Given the description of an element on the screen output the (x, y) to click on. 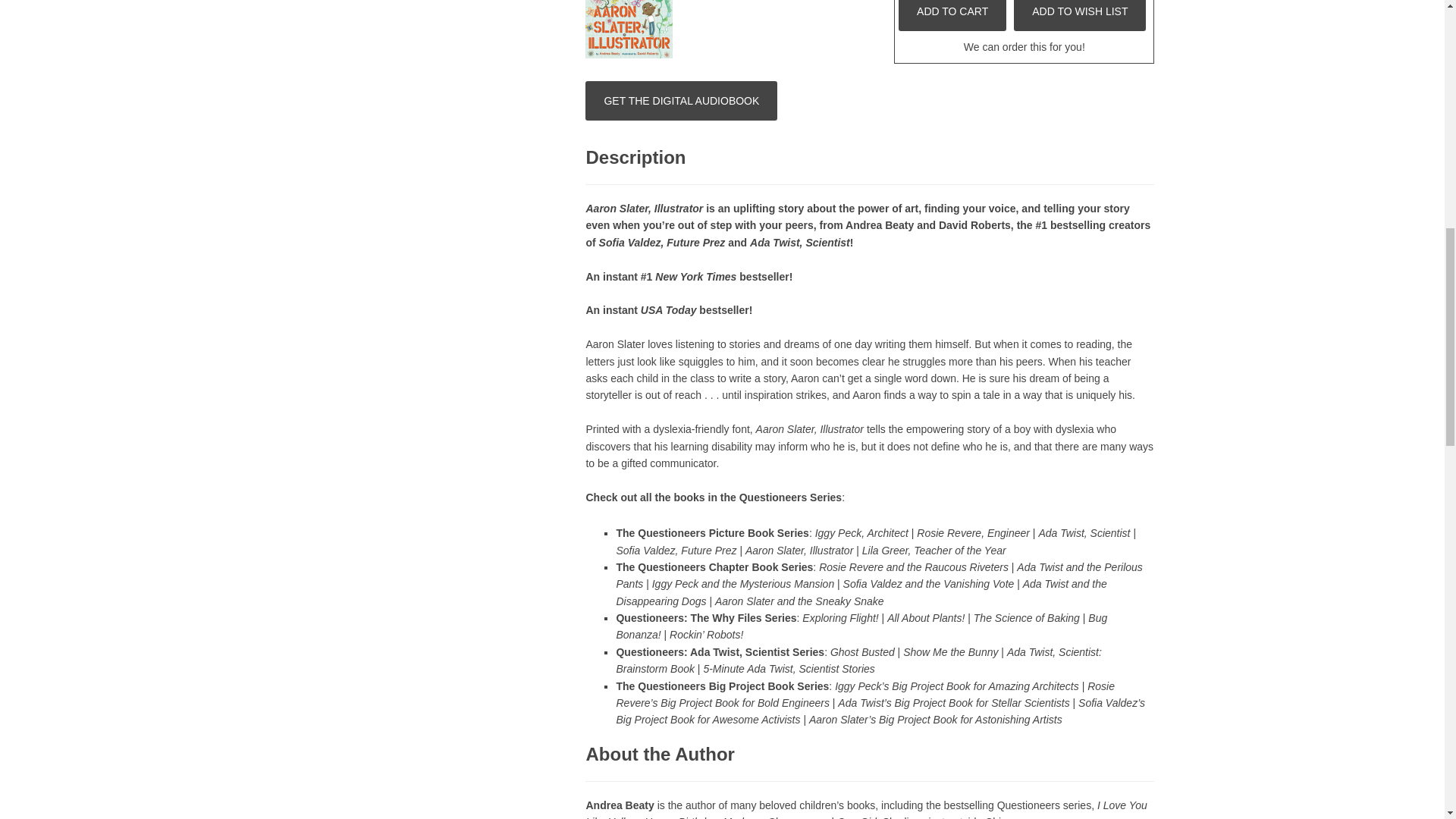
Get the Digital Audiobook (681, 100)
Add to Cart (952, 15)
